Given the description of an element on the screen output the (x, y) to click on. 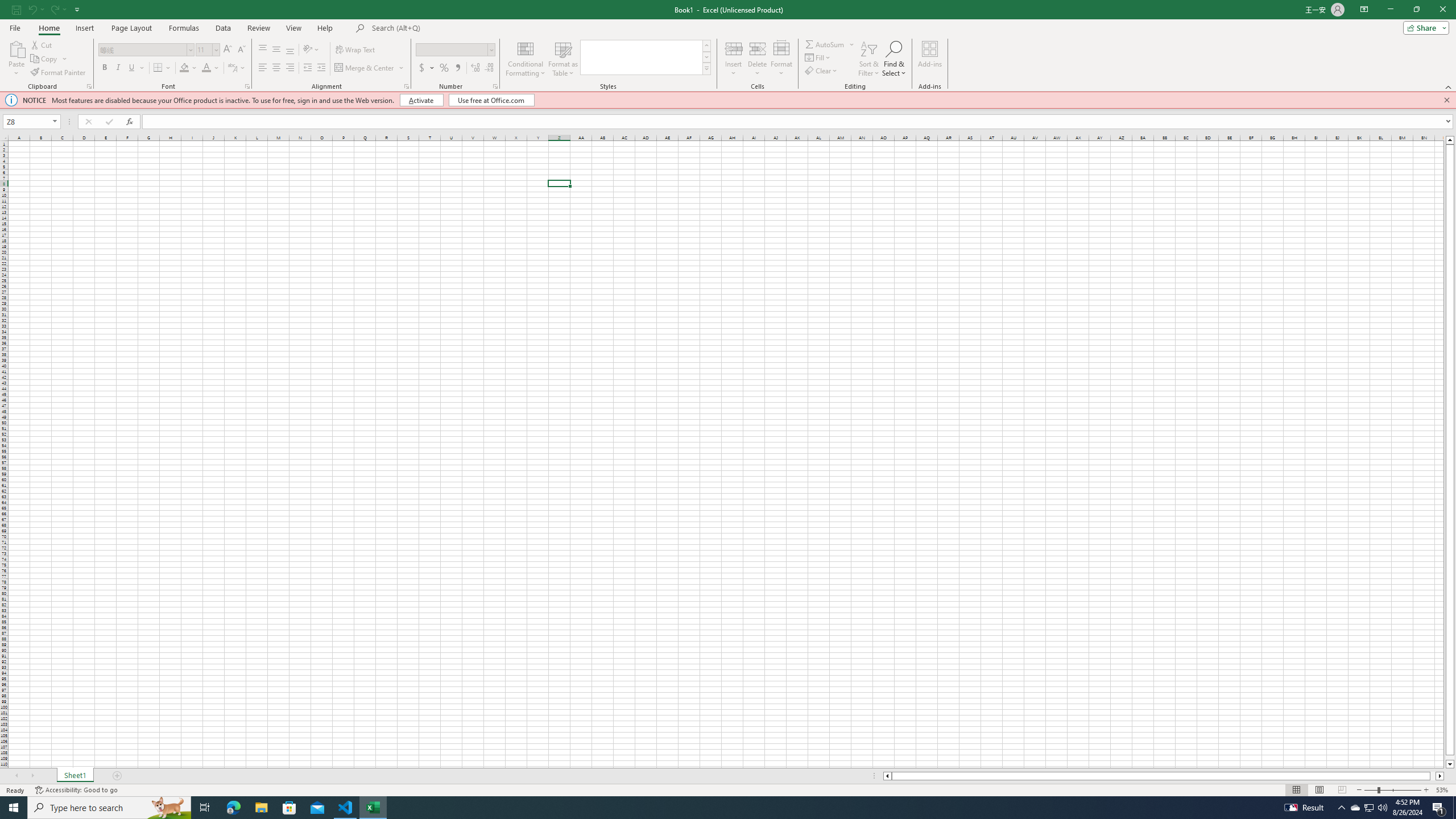
Format Cell Number (494, 85)
